Given the description of an element on the screen output the (x, y) to click on. 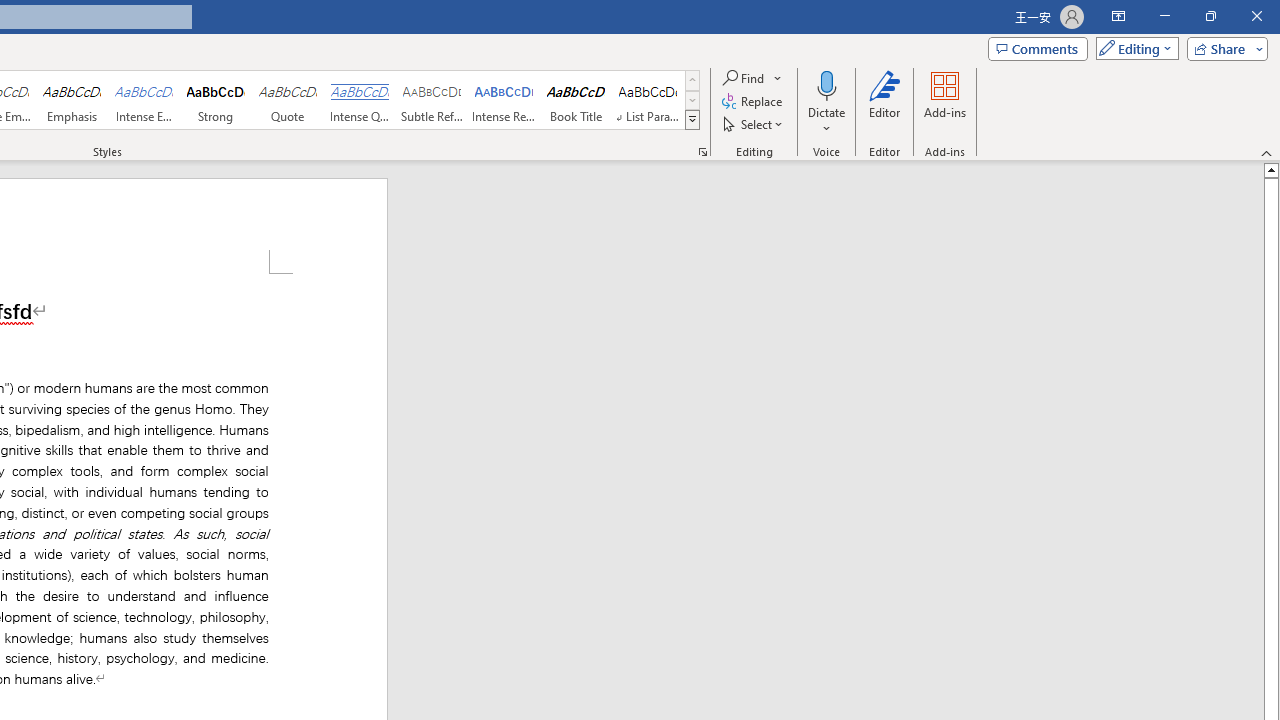
Editor (885, 102)
Styles... (702, 151)
Intense Emphasis (143, 100)
Select (754, 124)
Replace... (753, 101)
Row up (692, 79)
Quote (287, 100)
Intense Quote (359, 100)
Mode (1133, 47)
Line up (1271, 169)
Styles (692, 120)
